Given the description of an element on the screen output the (x, y) to click on. 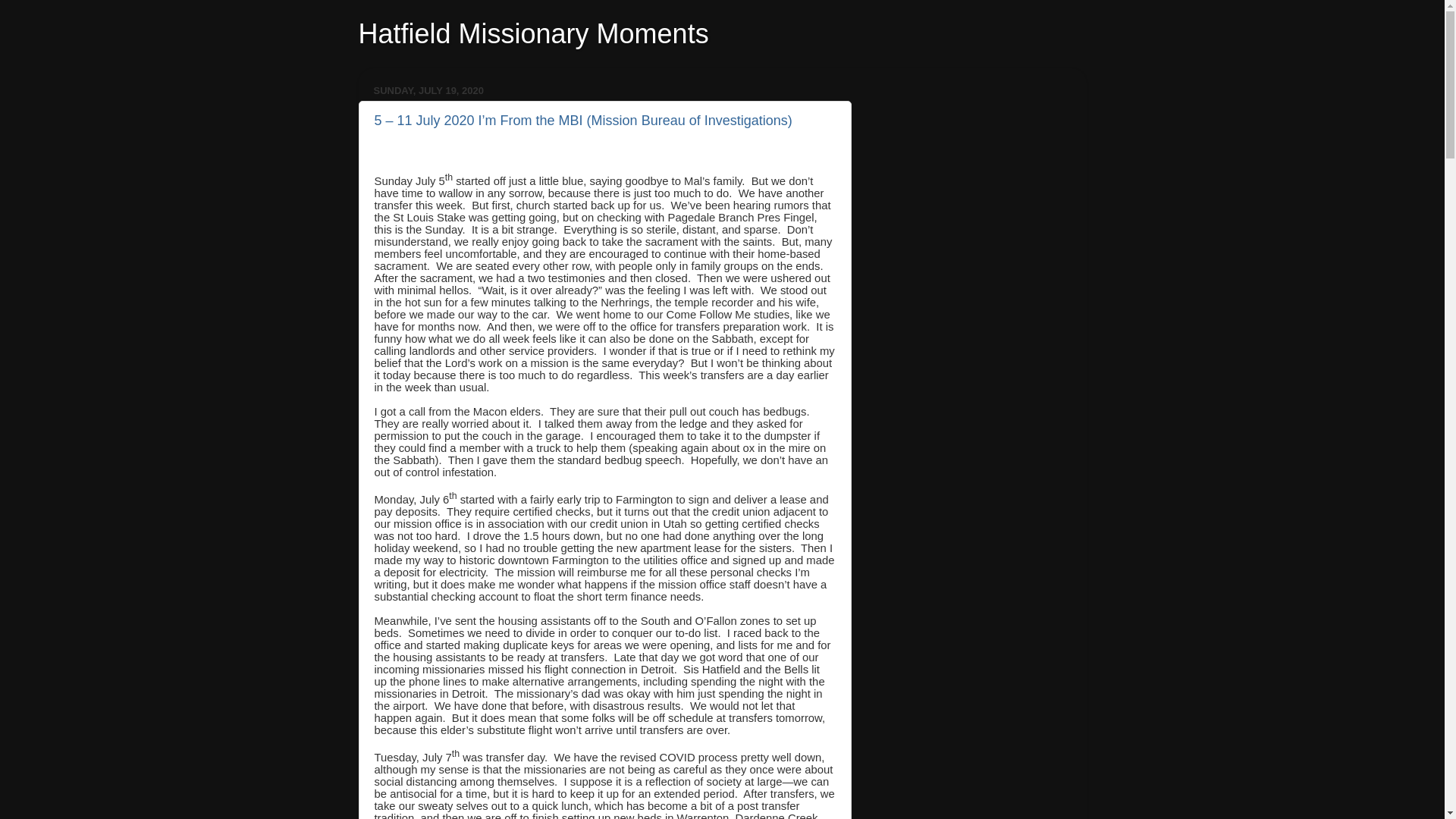
Hatfield Missionary Moments (532, 33)
